Given the description of an element on the screen output the (x, y) to click on. 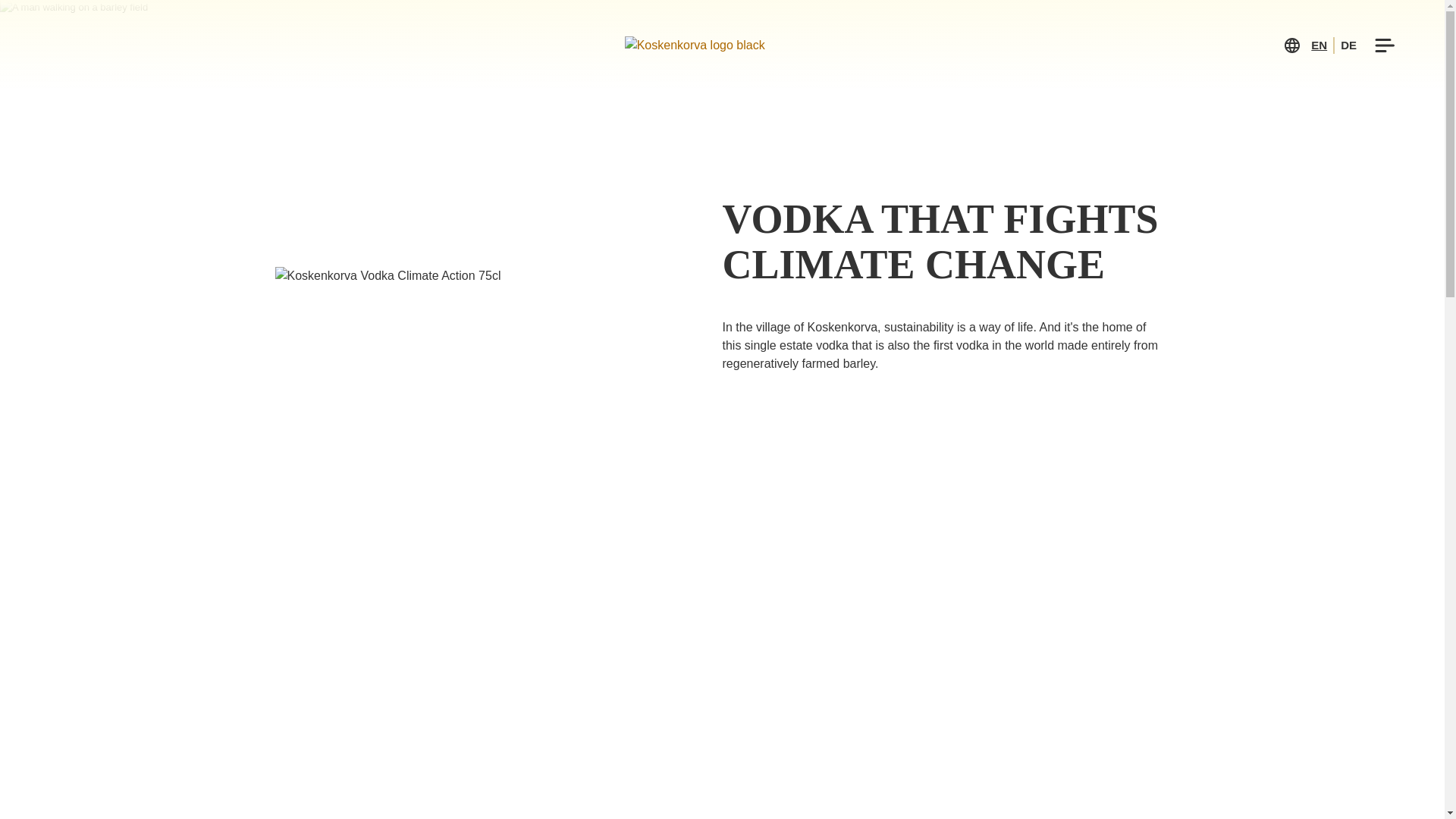
EN (1318, 45)
DE (1347, 45)
Koskenkorva logo (708, 45)
